Given the description of an element on the screen output the (x, y) to click on. 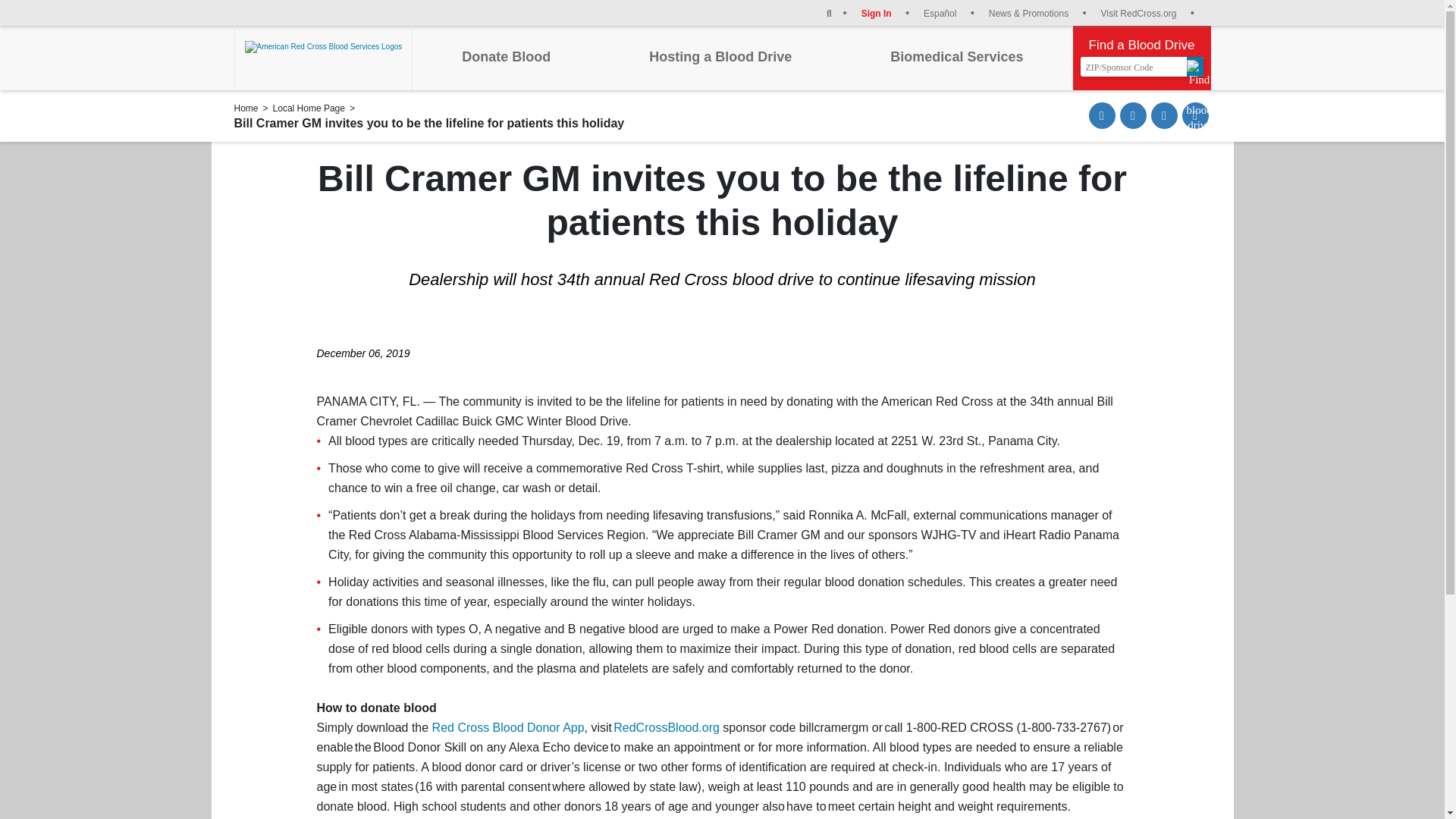
Share via Email (1102, 115)
Donate Blood (505, 56)
Other share options (1194, 115)
Donate Blood (505, 56)
Hosting a Blood Drive (720, 56)
Visit RedCross.org (1146, 13)
Sign In (885, 13)
Hosting a Blood Drive (720, 56)
Tweet (1164, 115)
Share on Facebook (1132, 115)
